Given the description of an element on the screen output the (x, y) to click on. 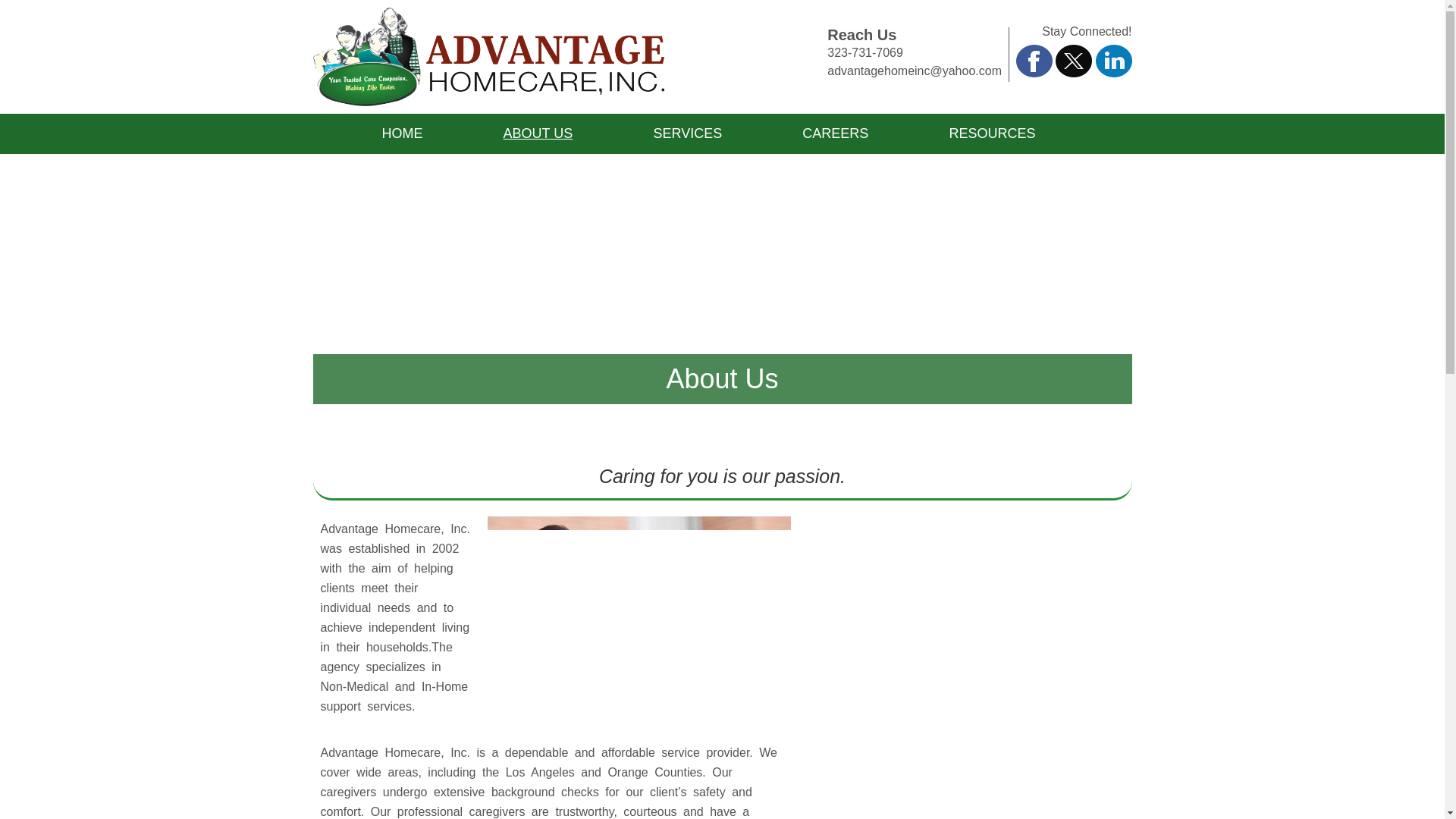
CONTACT US (735, 173)
ABOUT US (538, 133)
RESOURCES (991, 133)
SERVICES (687, 133)
HOME (401, 133)
CAREERS (834, 133)
